Given the description of an element on the screen output the (x, y) to click on. 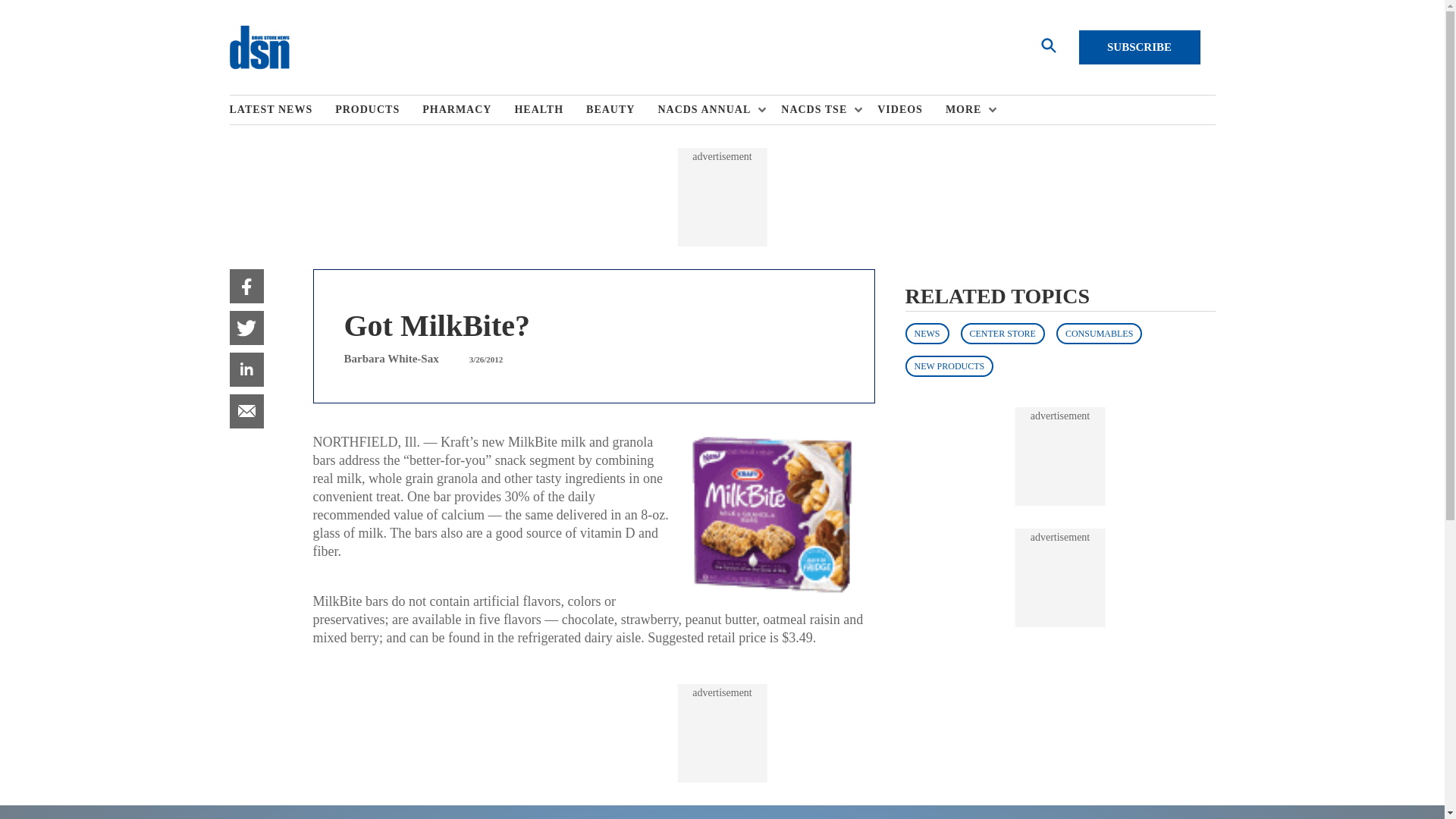
PHARMACY (467, 109)
HEALTH (549, 109)
BEAUTY (622, 109)
PRODUCTS (378, 109)
CONSUMABLES (1099, 332)
linkedIn (245, 369)
NACDS ANNUAL (708, 109)
NACDS TSE (817, 109)
twitter (245, 327)
NEW PRODUCTS (949, 365)
